Given the description of an element on the screen output the (x, y) to click on. 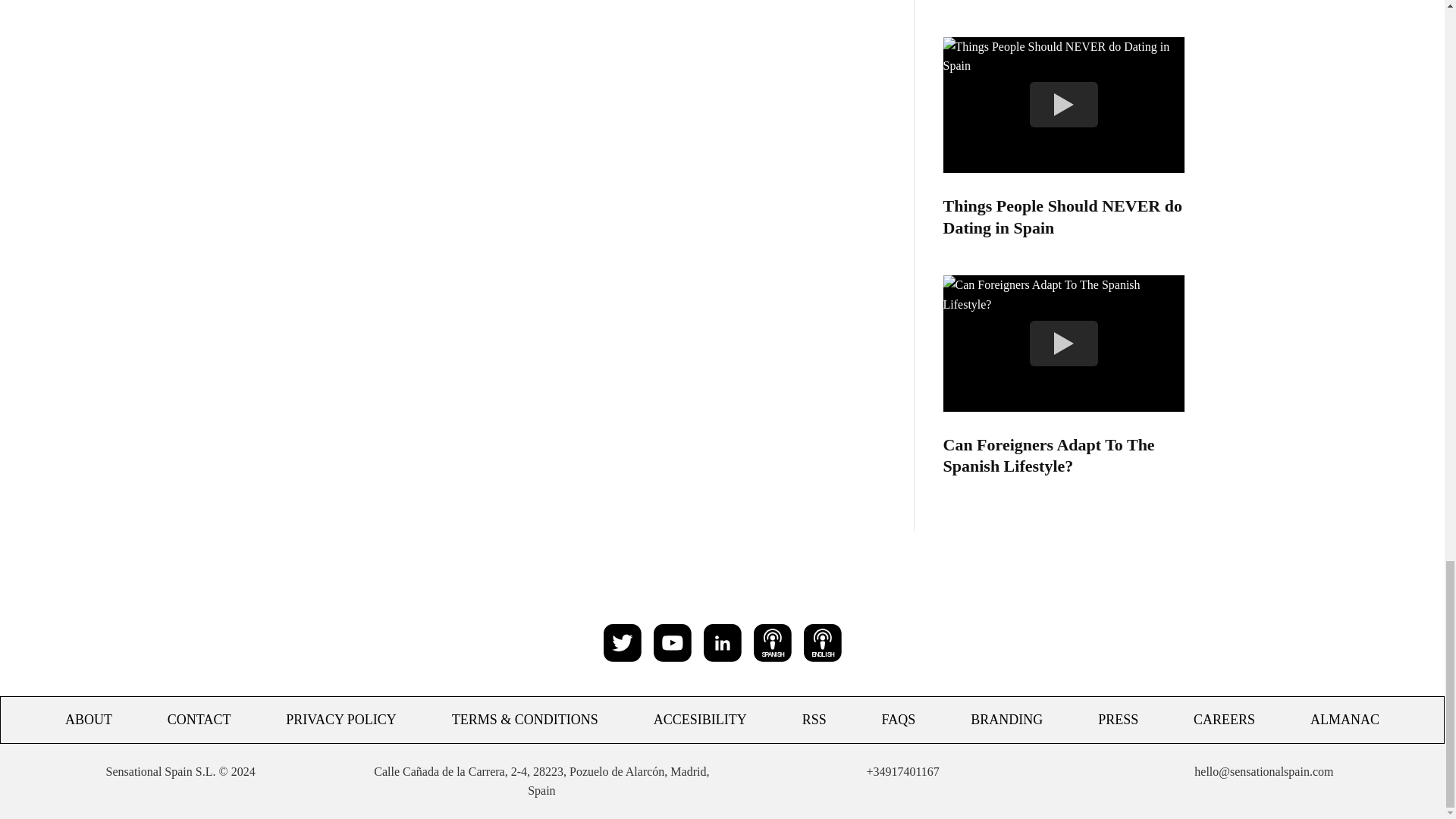
ENGLISH (822, 642)
SPANISH (773, 642)
